Given the description of an element on the screen output the (x, y) to click on. 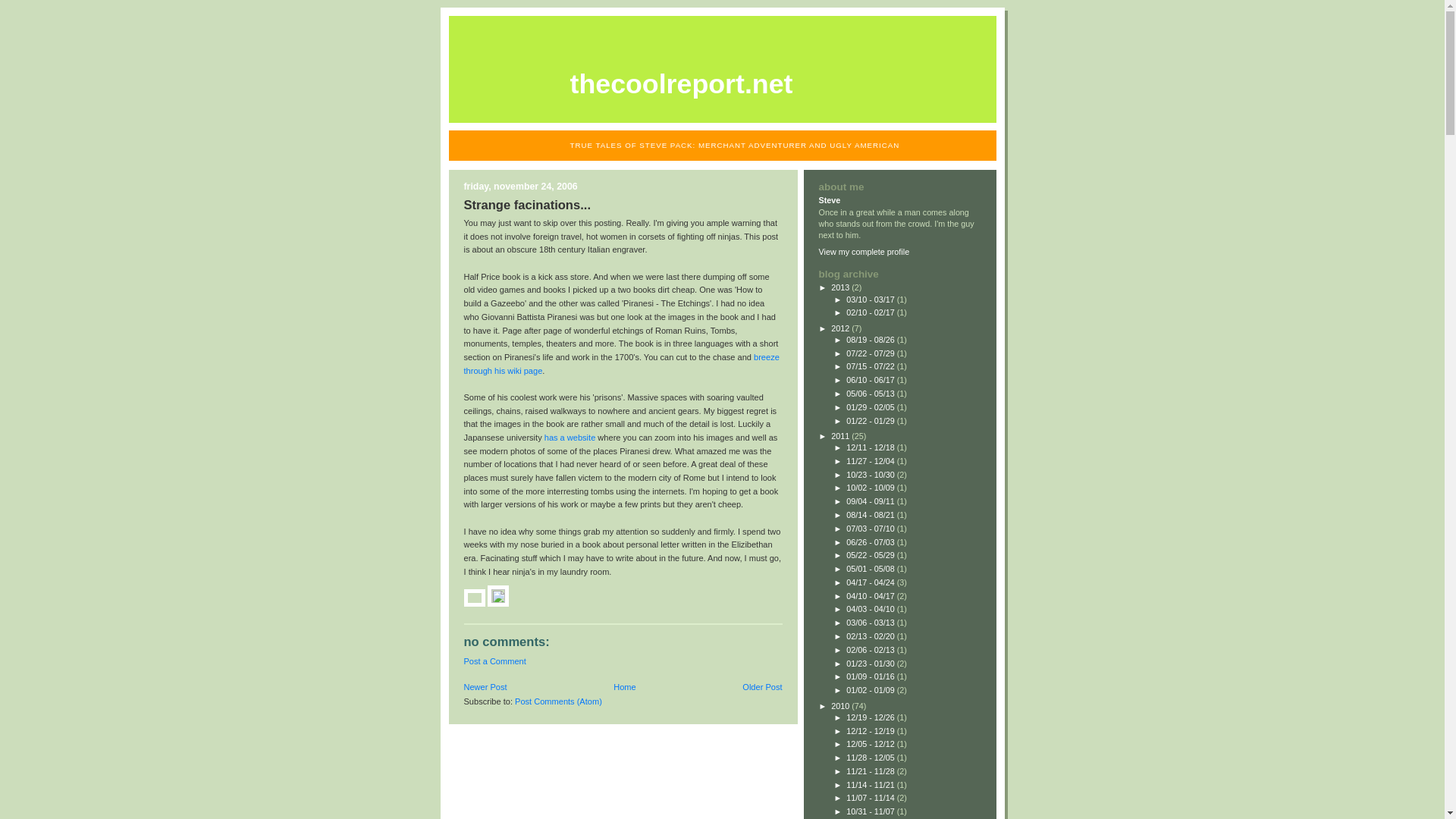
2012 (841, 327)
View my complete profile (864, 251)
2013 (841, 286)
Newer Post (485, 686)
Steve (829, 199)
Newer Post (485, 686)
Edit Post (497, 599)
Older Post (761, 686)
Email Post (475, 599)
thecoolreport.net (681, 83)
has a website (569, 437)
Home (623, 686)
2011 (841, 435)
Older Post (761, 686)
Post a Comment (494, 660)
